Given the description of an element on the screen output the (x, y) to click on. 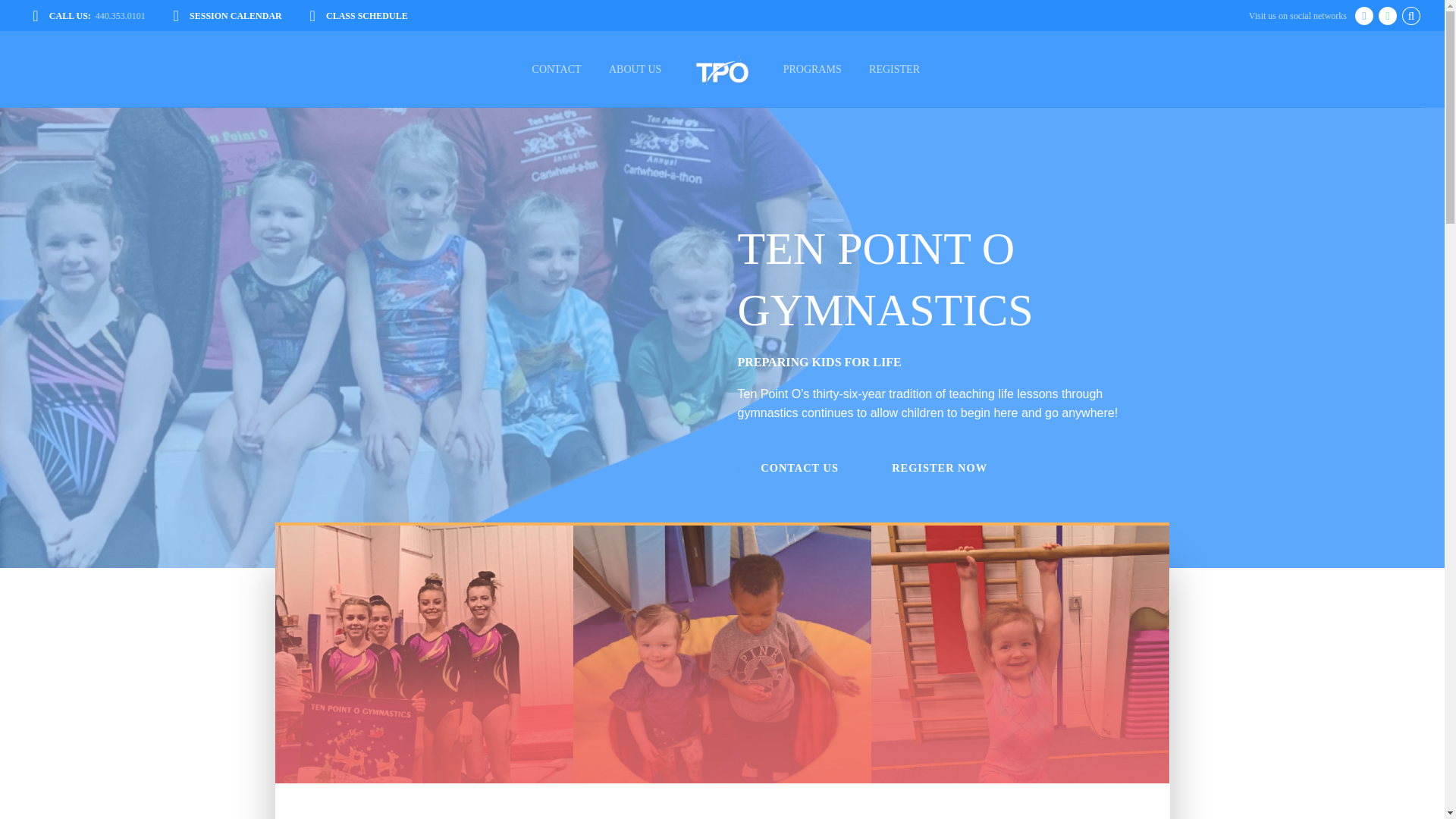
REGISTER NOW (938, 467)
REGISTER (894, 69)
CONTACT (556, 69)
CLASS SCHEDULE (357, 15)
CONTACT US (798, 467)
ABOUT US (635, 69)
SESSION CALENDAR (226, 15)
PROGRAMS (811, 69)
